Given the description of an element on the screen output the (x, y) to click on. 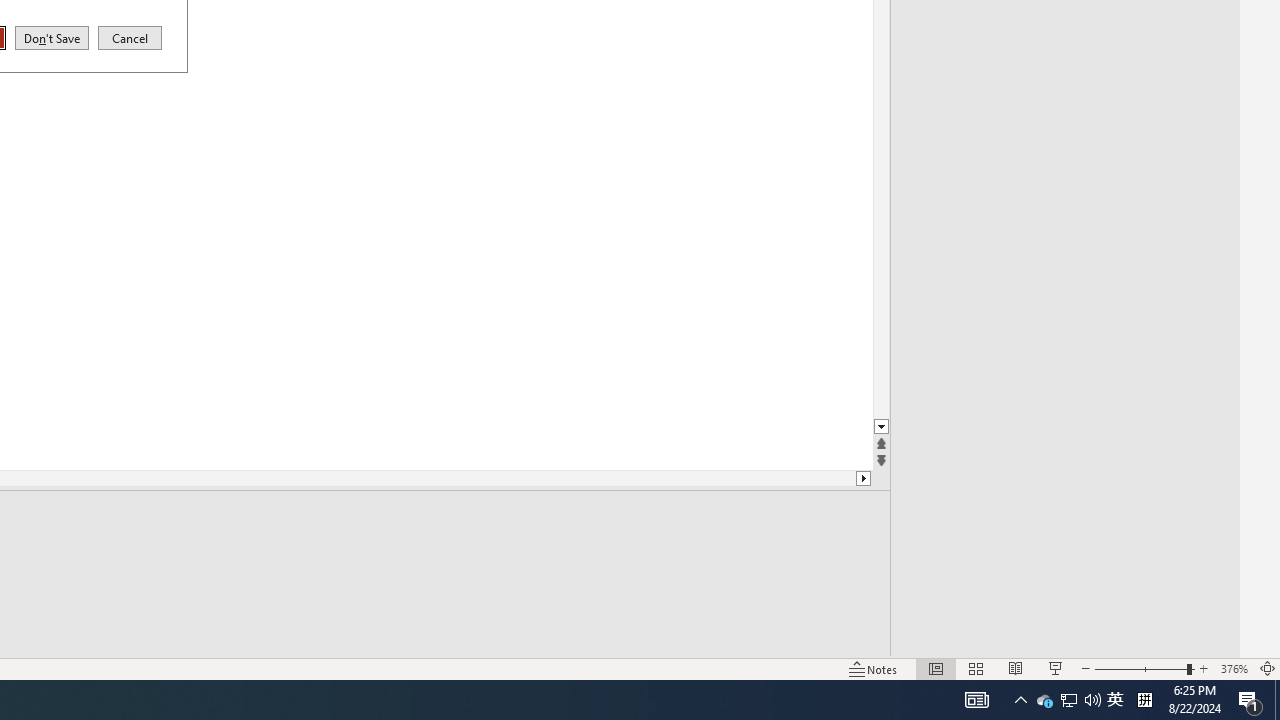
Cancel (130, 37)
Zoom 376% (1234, 668)
